Given the description of an element on the screen output the (x, y) to click on. 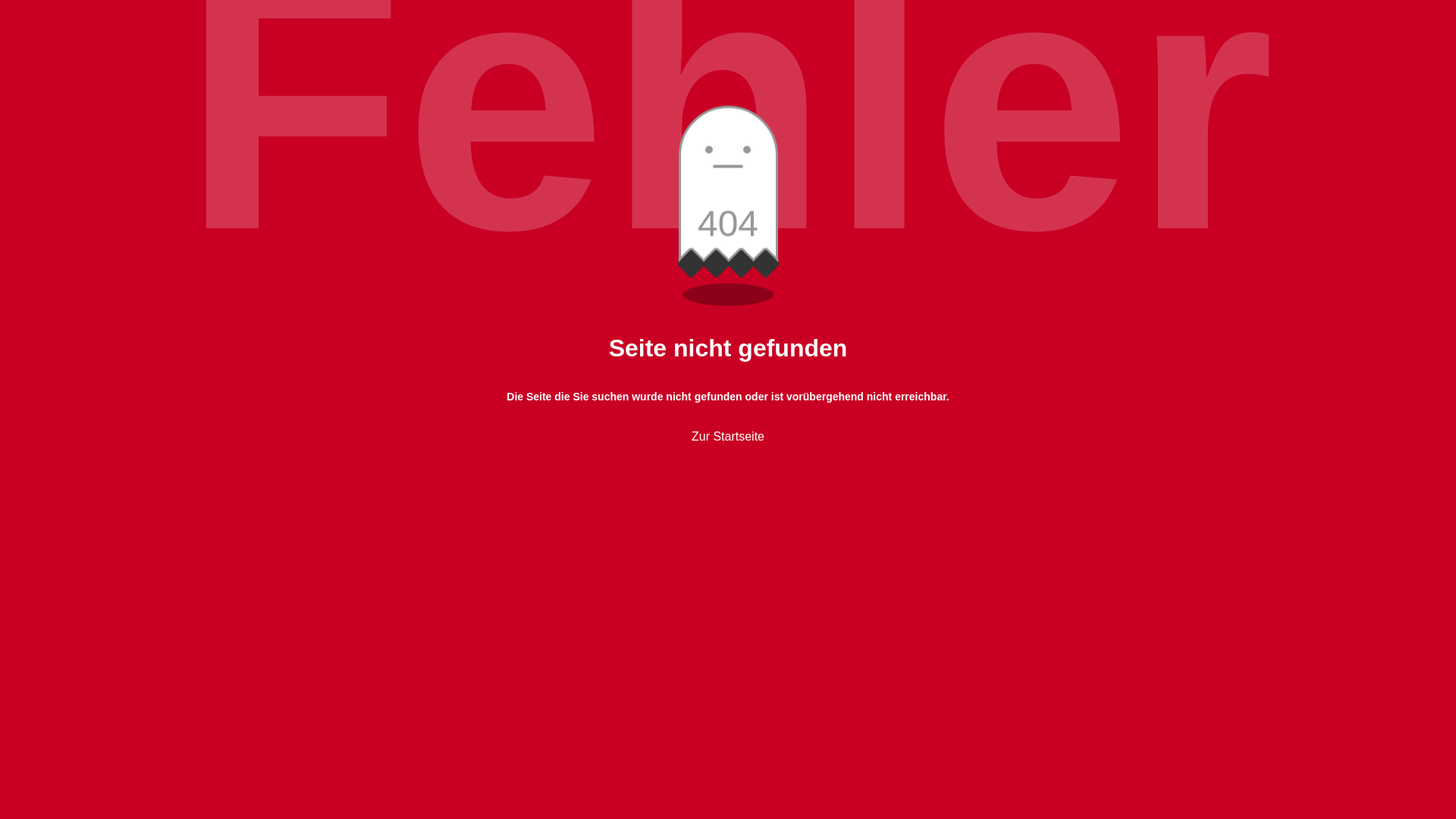
Zur Startseite Element type: text (727, 435)
